Given the description of an element on the screen output the (x, y) to click on. 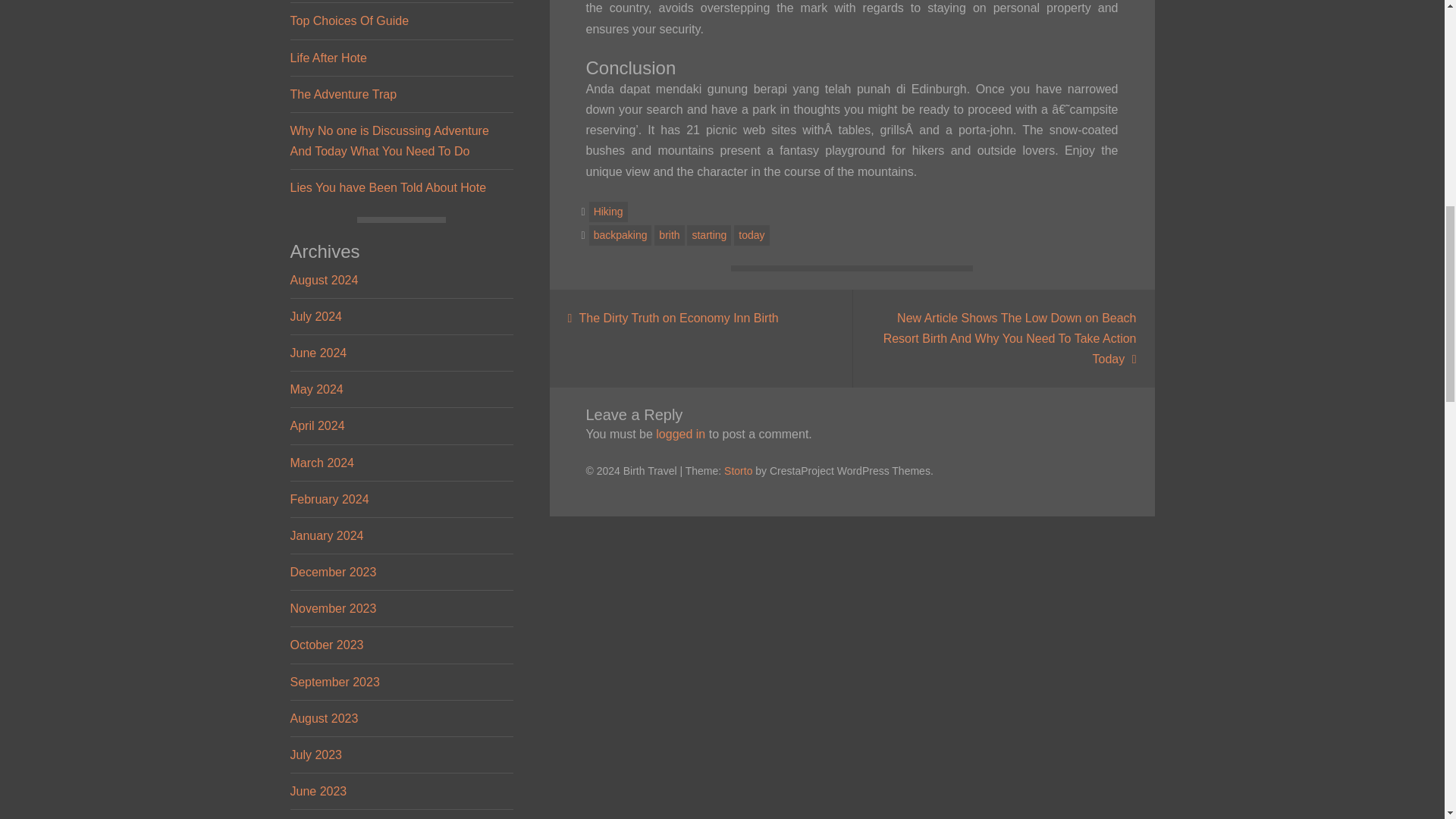
The Adventure Trap (342, 93)
August 2024 (323, 279)
Lies You have Been Told About Hote (387, 187)
June 2024 (317, 352)
September 2023 (333, 681)
Top Choices Of Guide (349, 20)
July 2024 (315, 316)
January 2024 (325, 535)
February 2024 (328, 499)
